Given the description of an element on the screen output the (x, y) to click on. 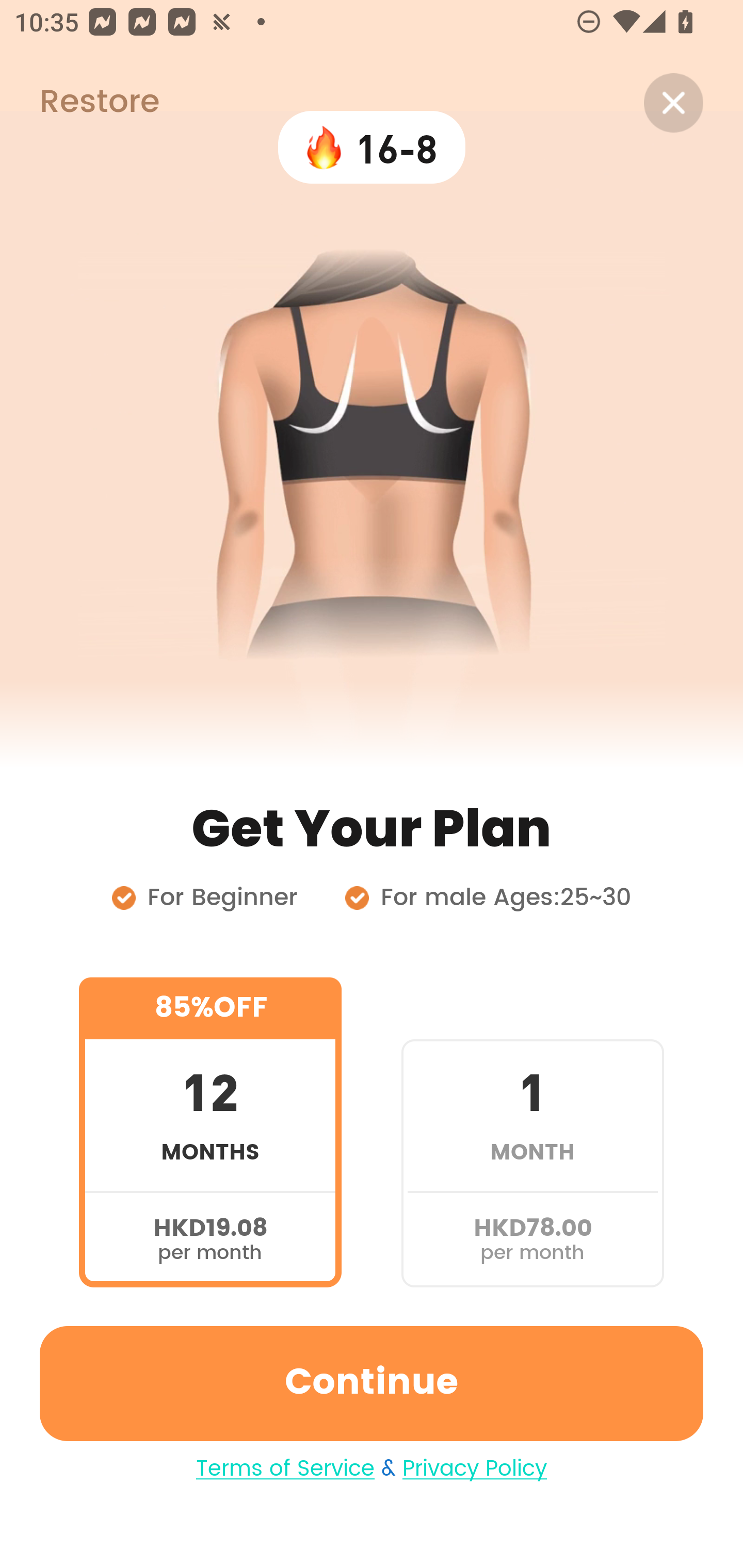
Restore (79, 102)
85%OFF 12 MONTHS per month HKD19.08 (209, 1131)
1 MONTH per month HKD78.00 (532, 1131)
Continue (371, 1383)
